Given the description of an element on the screen output the (x, y) to click on. 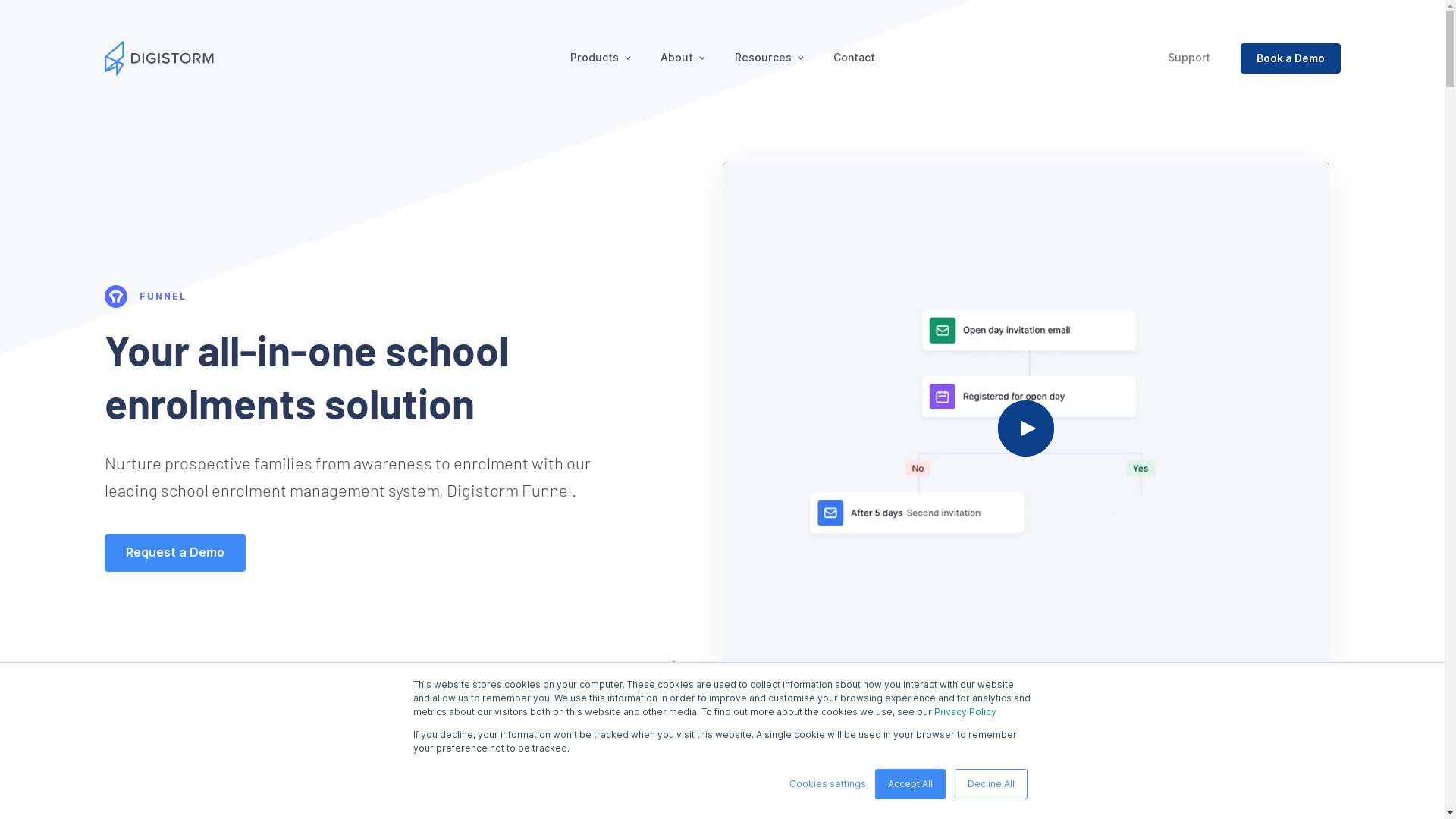
Resources Element type: text (768, 57)
Accept All Element type: text (910, 783)
Support Element type: text (1188, 57)
Cookies settings Element type: text (826, 783)
Contact Element type: text (853, 57)
Request a Demo Element type: text (174, 552)
Products Element type: text (600, 57)
Decline All Element type: text (989, 783)
Privacy Policy Element type: text (965, 711)
Funnel colour Copy Element type: hover (115, 296)
About Element type: text (681, 57)
Book a Demo Element type: text (1290, 57)
